Given the description of an element on the screen output the (x, y) to click on. 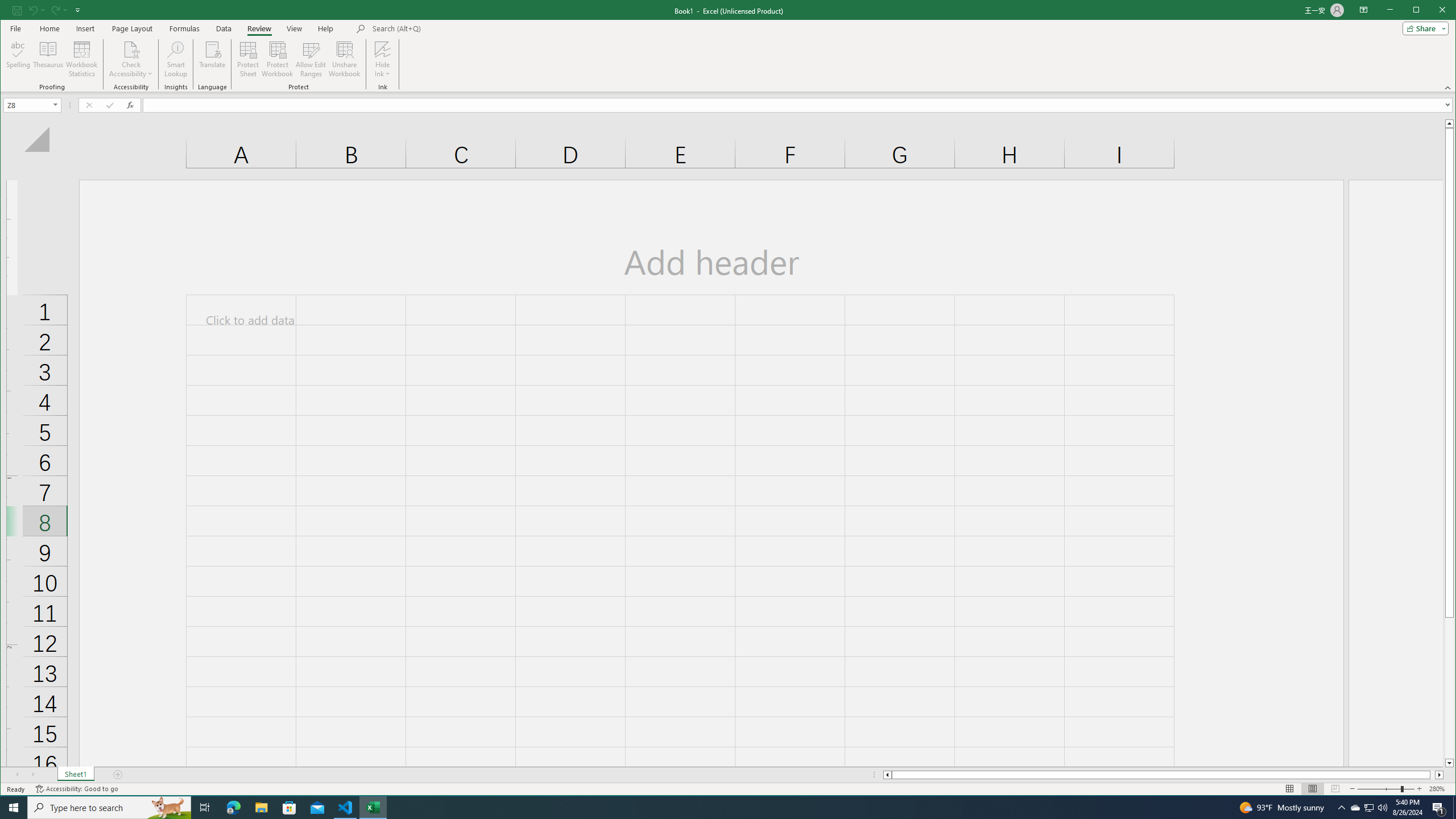
Line down (1368, 807)
Customize Quick Access Toolbar (1449, 763)
Normal (77, 9)
Translate (1289, 788)
Column right (212, 59)
Spelling... (1439, 774)
Class: NetUIScrollBar (18, 59)
Share (1163, 774)
Formula Bar (1422, 27)
Column left (799, 104)
Collapse the Ribbon (886, 774)
Notification Chevron (1448, 87)
